Given the description of an element on the screen output the (x, y) to click on. 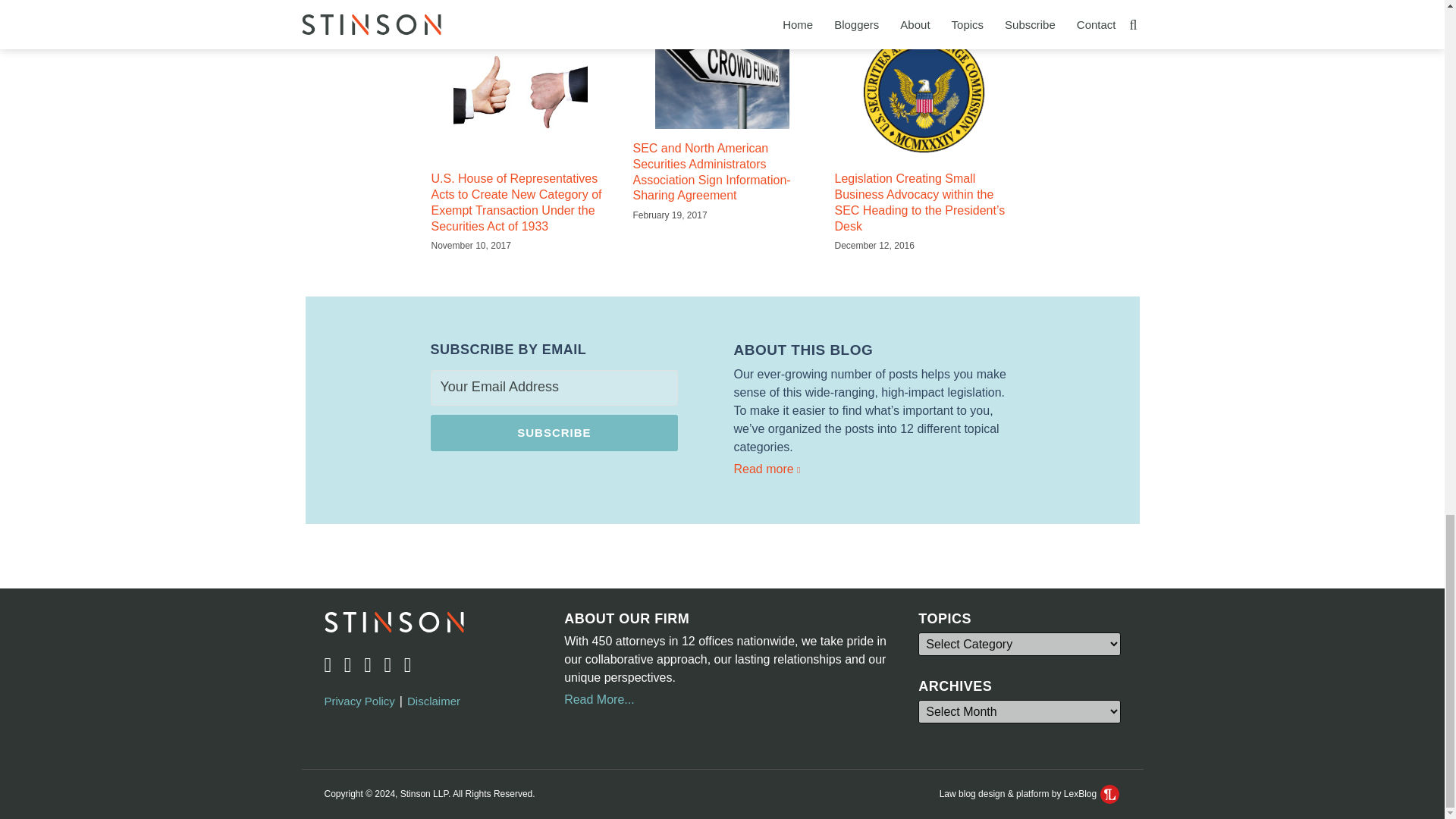
Subscribe (554, 432)
Read more (873, 469)
LexBlog Logo (1109, 793)
Subscribe (554, 432)
